Given the description of an element on the screen output the (x, y) to click on. 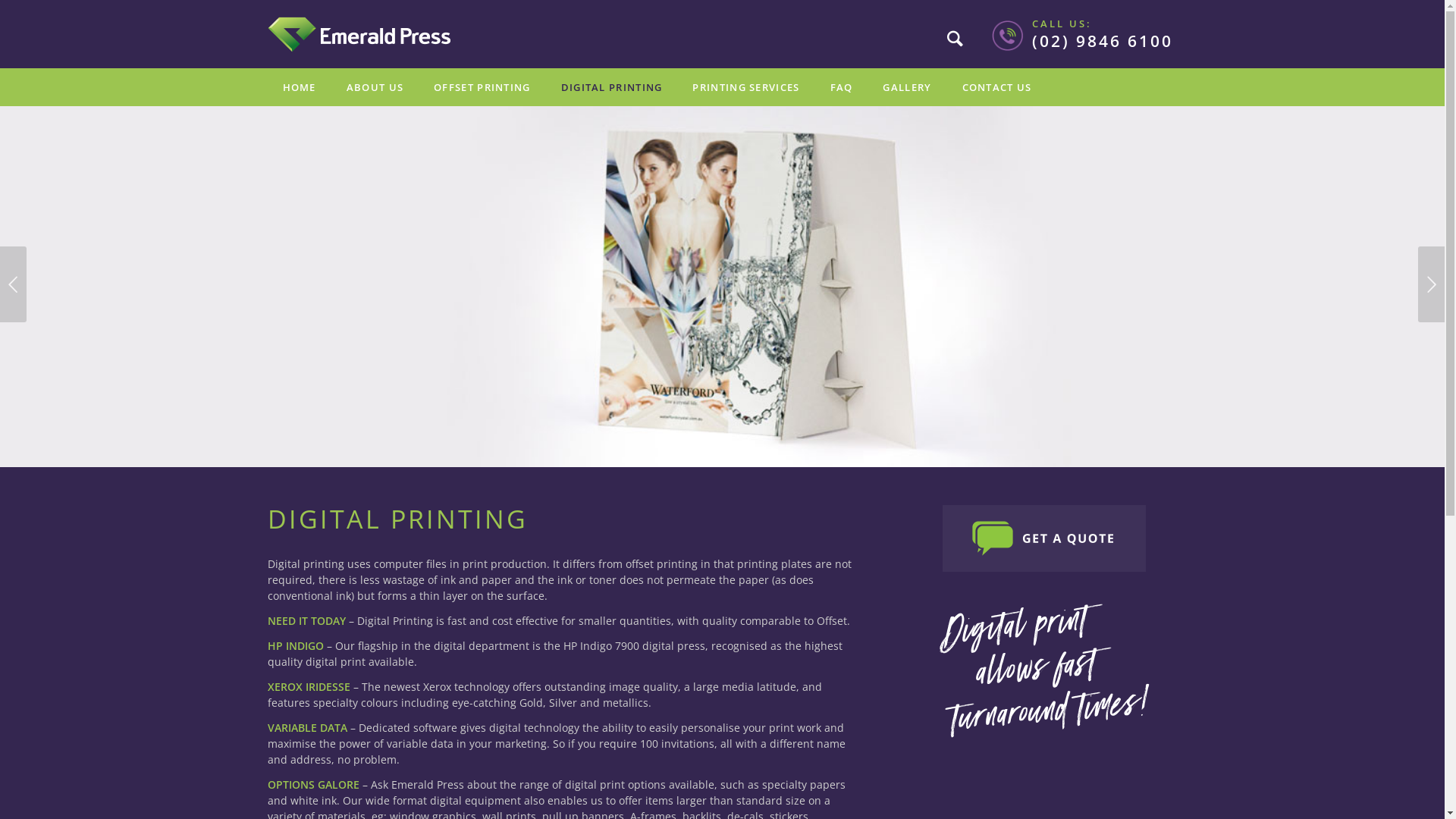
Next Element type: text (1431, 284)
PRINTING SERVICES Element type: text (745, 87)
GALLERY Element type: text (906, 87)
DIGITAL PRINT ALLOWS FAST TURNAROUND TIMES! Element type: hover (1043, 670)
(02) 9846 6100 Element type: text (1101, 40)
CONTACT US Element type: text (997, 87)
ABOUT US Element type: text (374, 87)
OFFSET PRINTING Element type: text (482, 87)
Previous Element type: text (13, 284)
Digital Printing Element type: hover (722, 284)
HOME Element type: text (298, 87)
DIGITAL PRINTING Element type: text (611, 87)
FAQ Element type: text (841, 87)
